Given the description of an element on the screen output the (x, y) to click on. 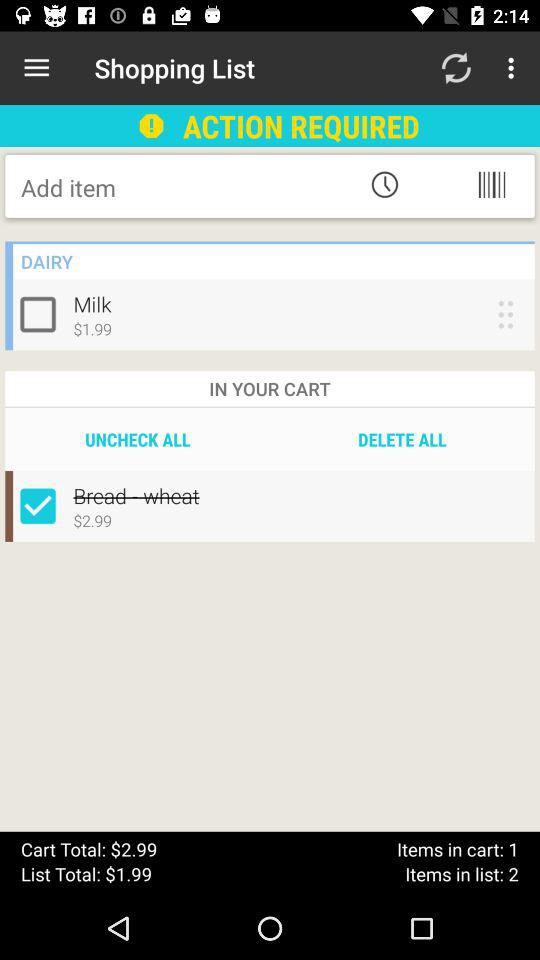
jump to the uncheck all (137, 439)
